Given the description of an element on the screen output the (x, y) to click on. 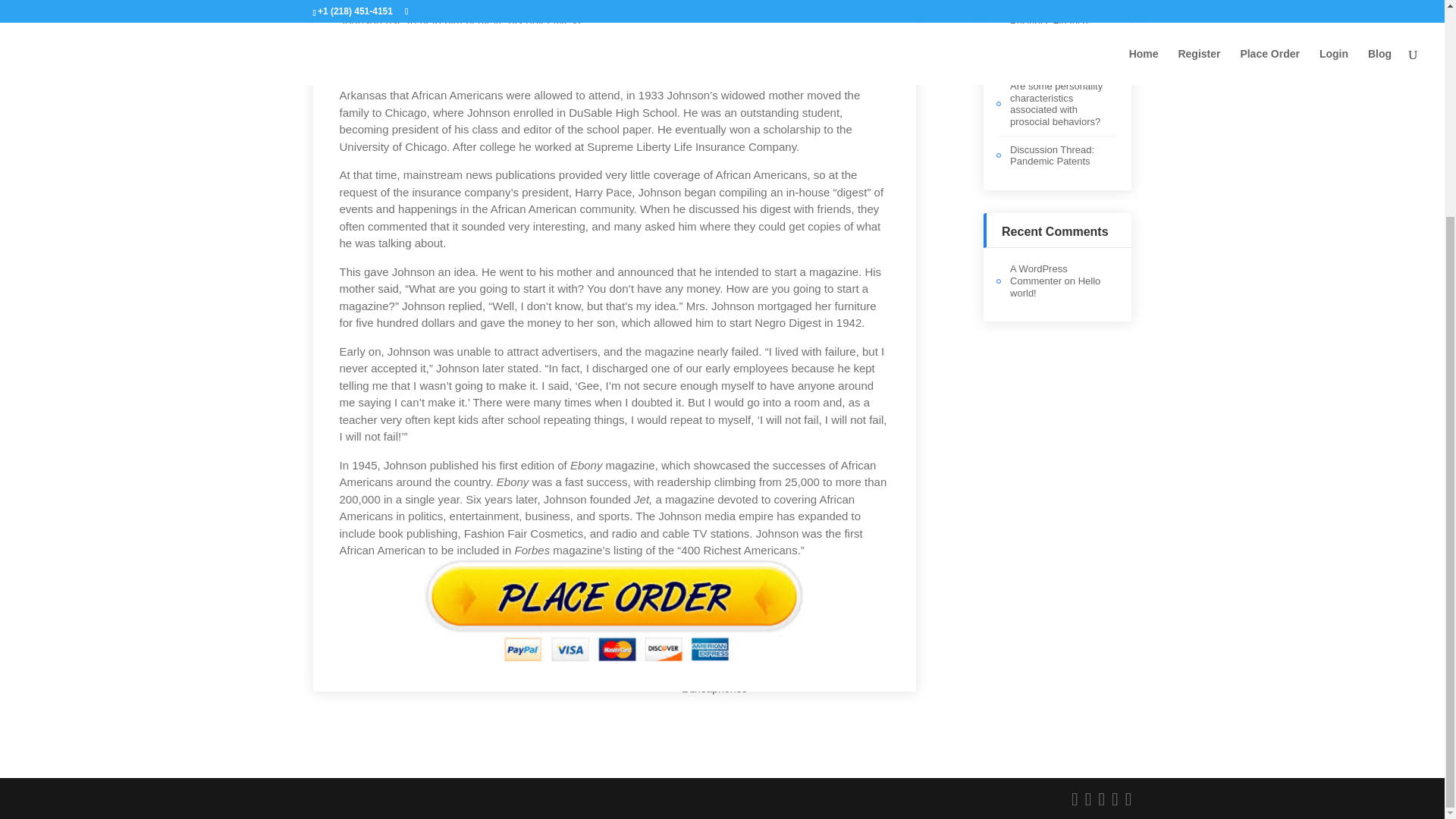
Discussion Thread: Pandemic Patents (1052, 155)
A WordPress Commenter (1038, 274)
Hello world! (1055, 286)
